Given the description of an element on the screen output the (x, y) to click on. 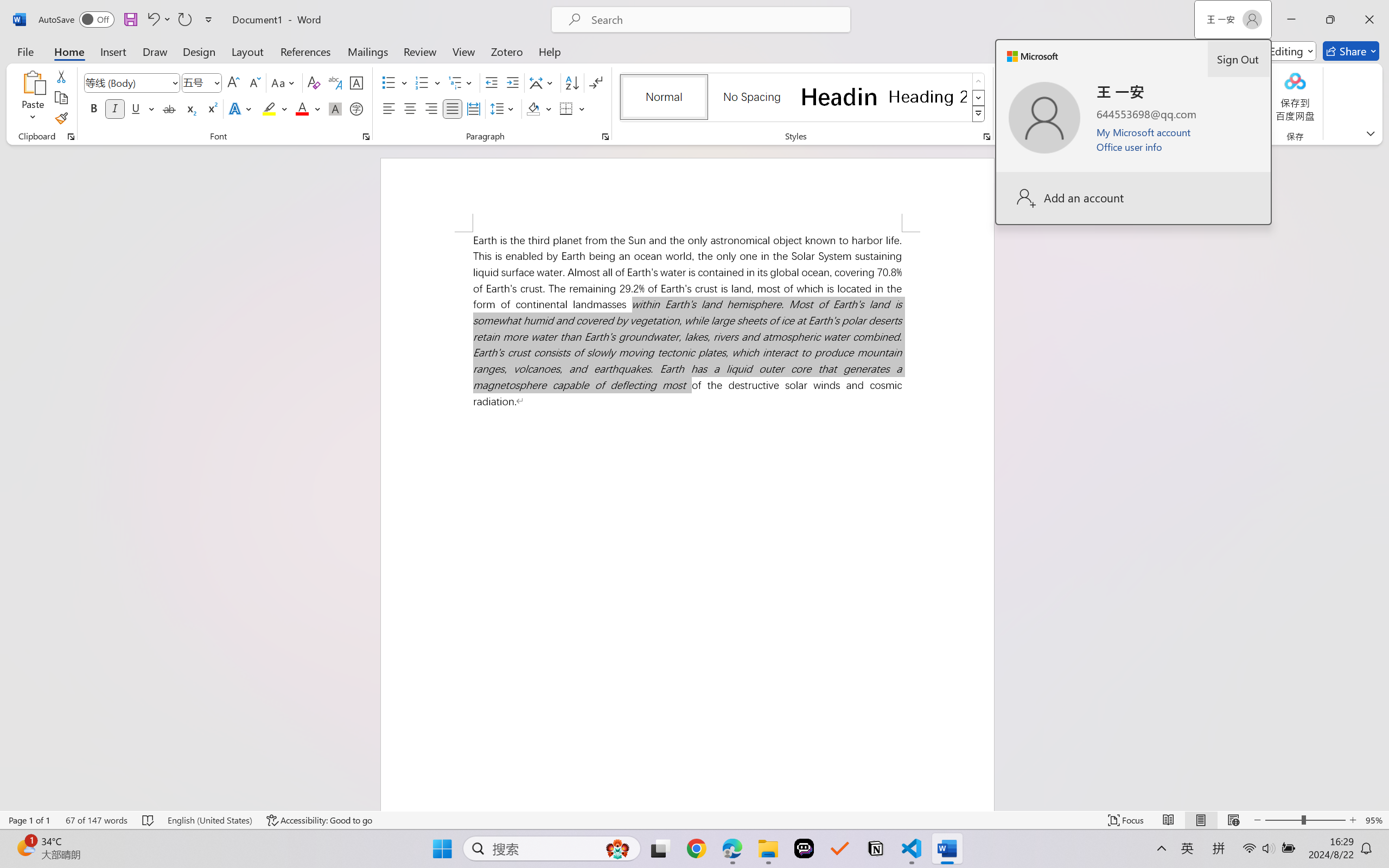
Strikethrough (169, 108)
Sort... (571, 82)
Enclose Characters... (356, 108)
Line and Paragraph Spacing (503, 108)
Paragraph... (605, 136)
Phonetic Guide... (334, 82)
Heading 1 (839, 96)
